Given the description of an element on the screen output the (x, y) to click on. 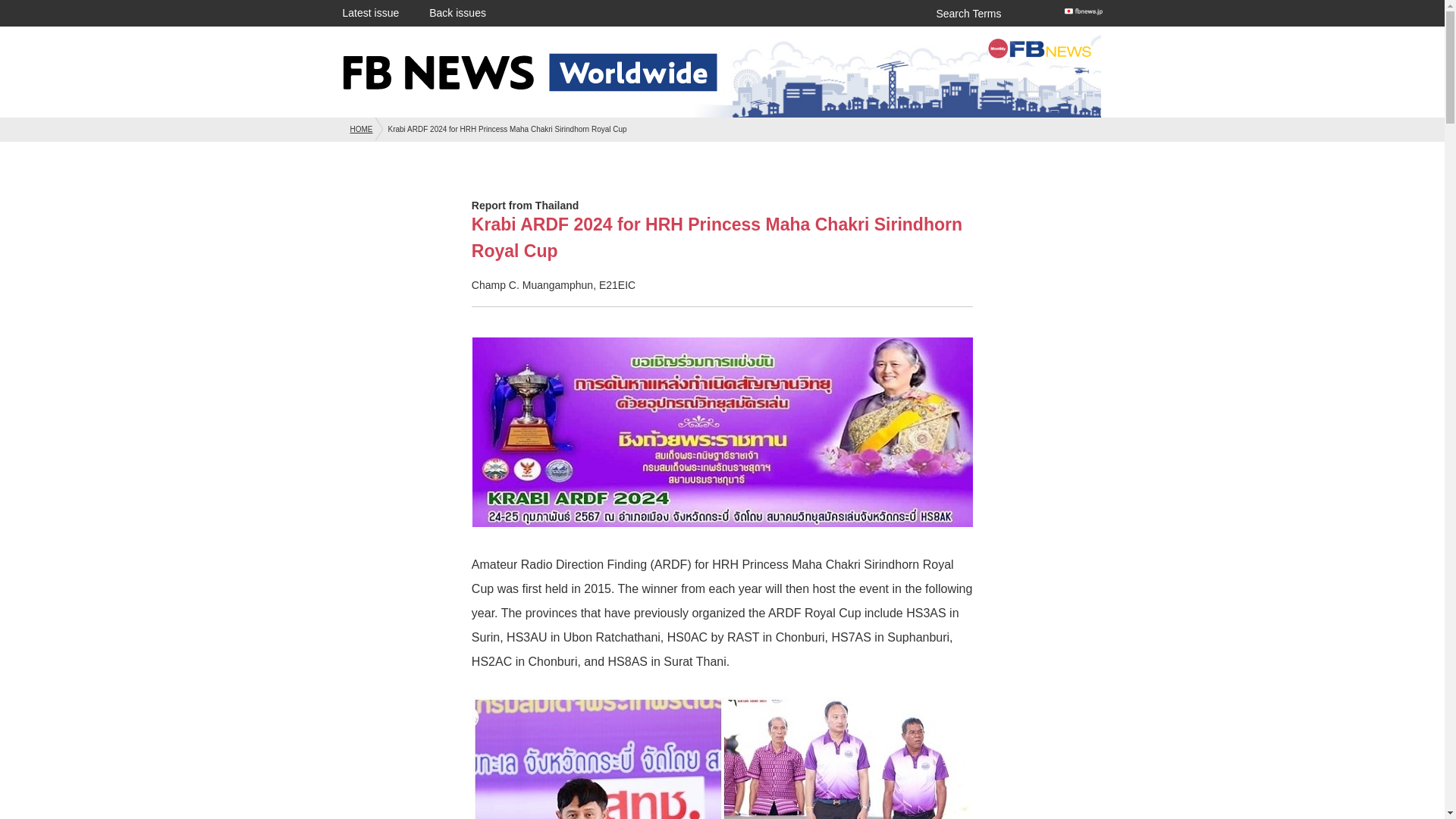
HOME (361, 129)
Back issues (457, 12)
Latest issue (370, 12)
